Given the description of an element on the screen output the (x, y) to click on. 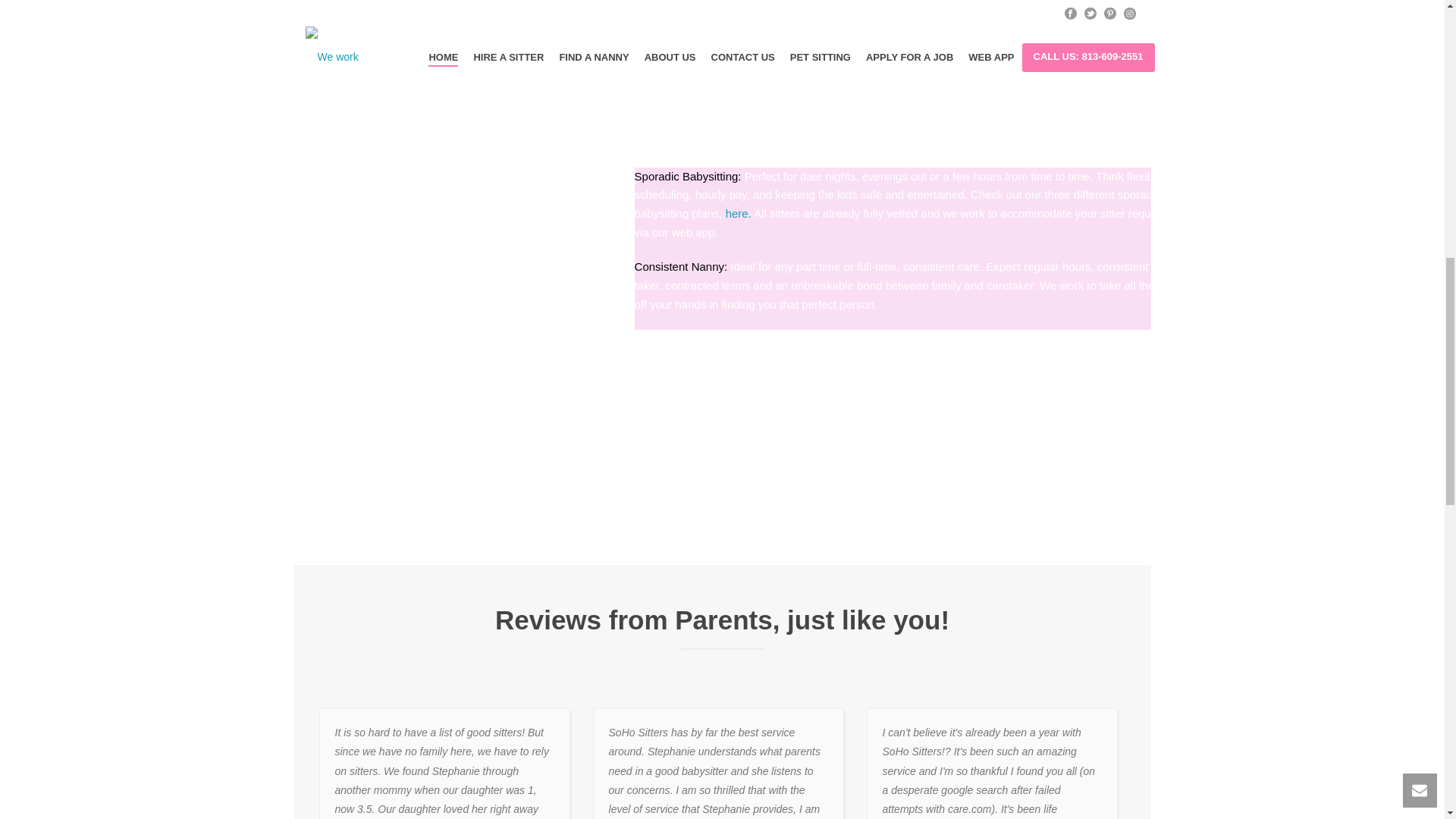
SIGN UP TODAY (447, 29)
SIGN UP TODAY (694, 345)
SIGN UP TODAY (1004, 47)
SIGN UP TODAY (726, 30)
